Given the description of an element on the screen output the (x, y) to click on. 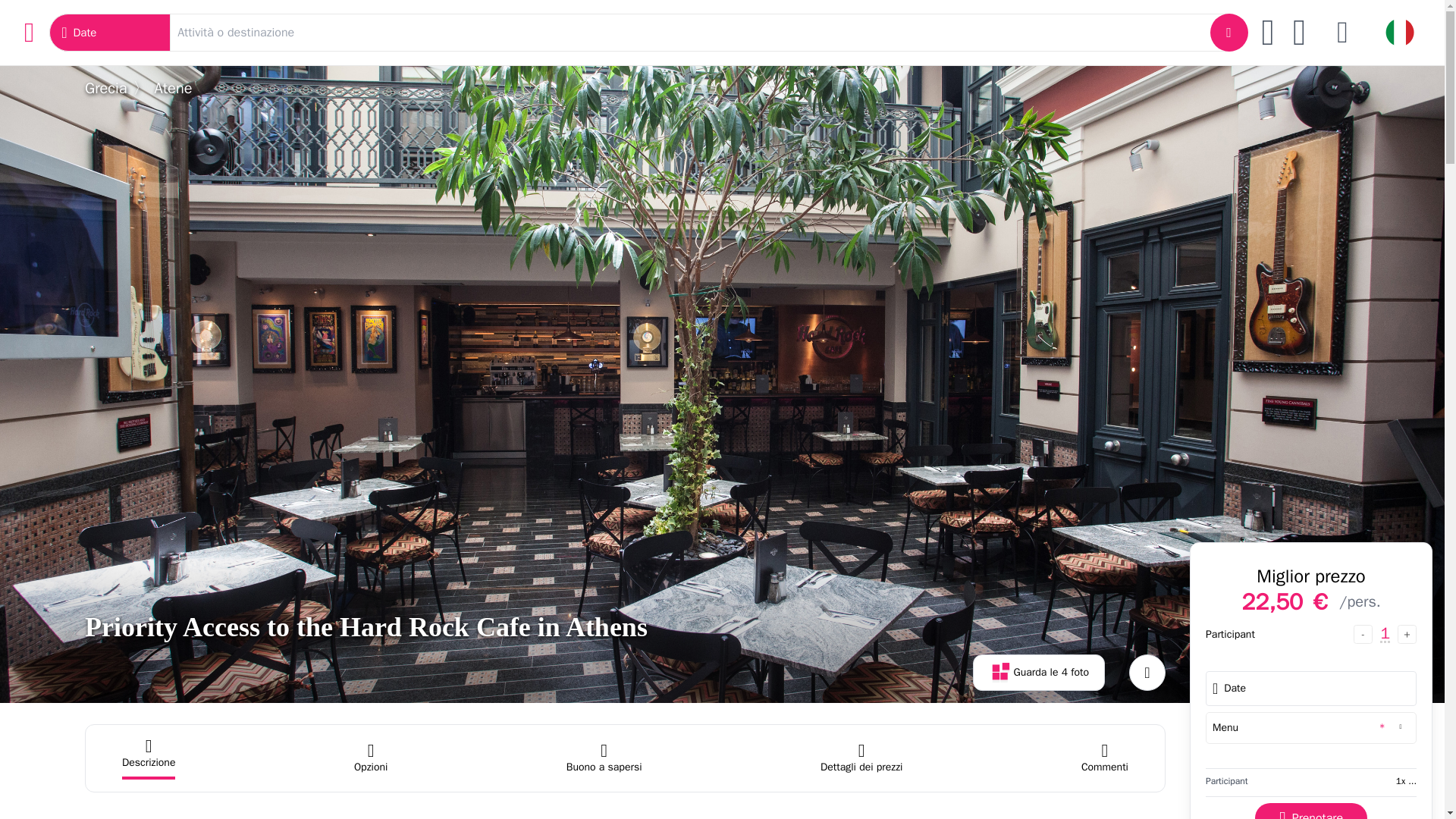
Buono a sapersi (604, 758)
- (1363, 633)
Guarda le 4 foto (1038, 672)
Prenotare (1311, 811)
Commenti (1104, 758)
Grecia (106, 87)
Opzioni (370, 758)
Opzioni (370, 758)
Descrizione (148, 758)
Commenti (1104, 758)
Buono a sapersi (604, 758)
Dettagli dei prezzi (861, 758)
Atene (173, 87)
Dettagli dei prezzi (861, 758)
